Given the description of an element on the screen output the (x, y) to click on. 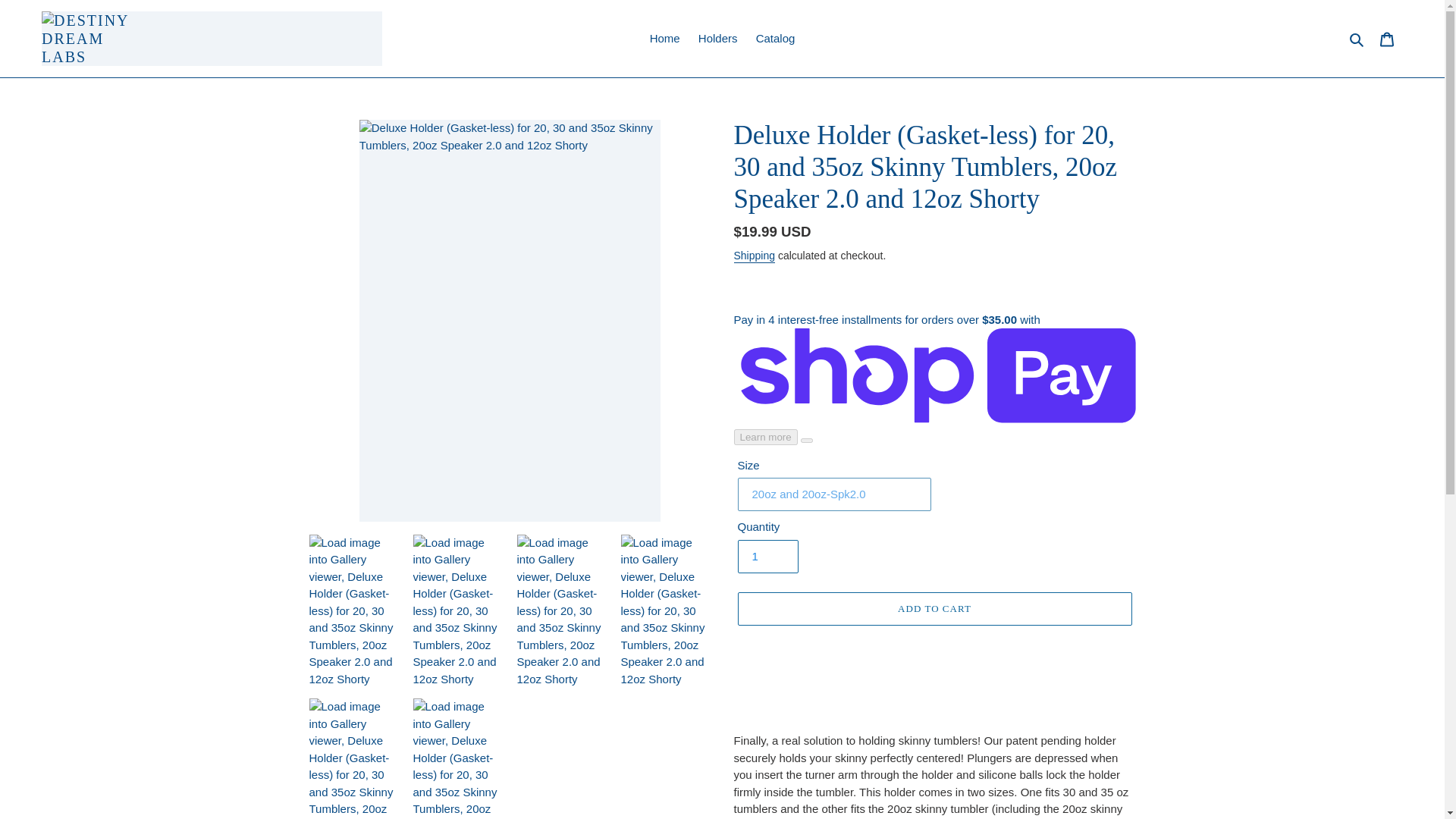
1 (766, 556)
Shipping (754, 255)
Search (1357, 38)
ADD TO CART (933, 608)
Holders (717, 38)
Catalog (775, 38)
Home (664, 38)
Cart (1387, 38)
